Given the description of an element on the screen output the (x, y) to click on. 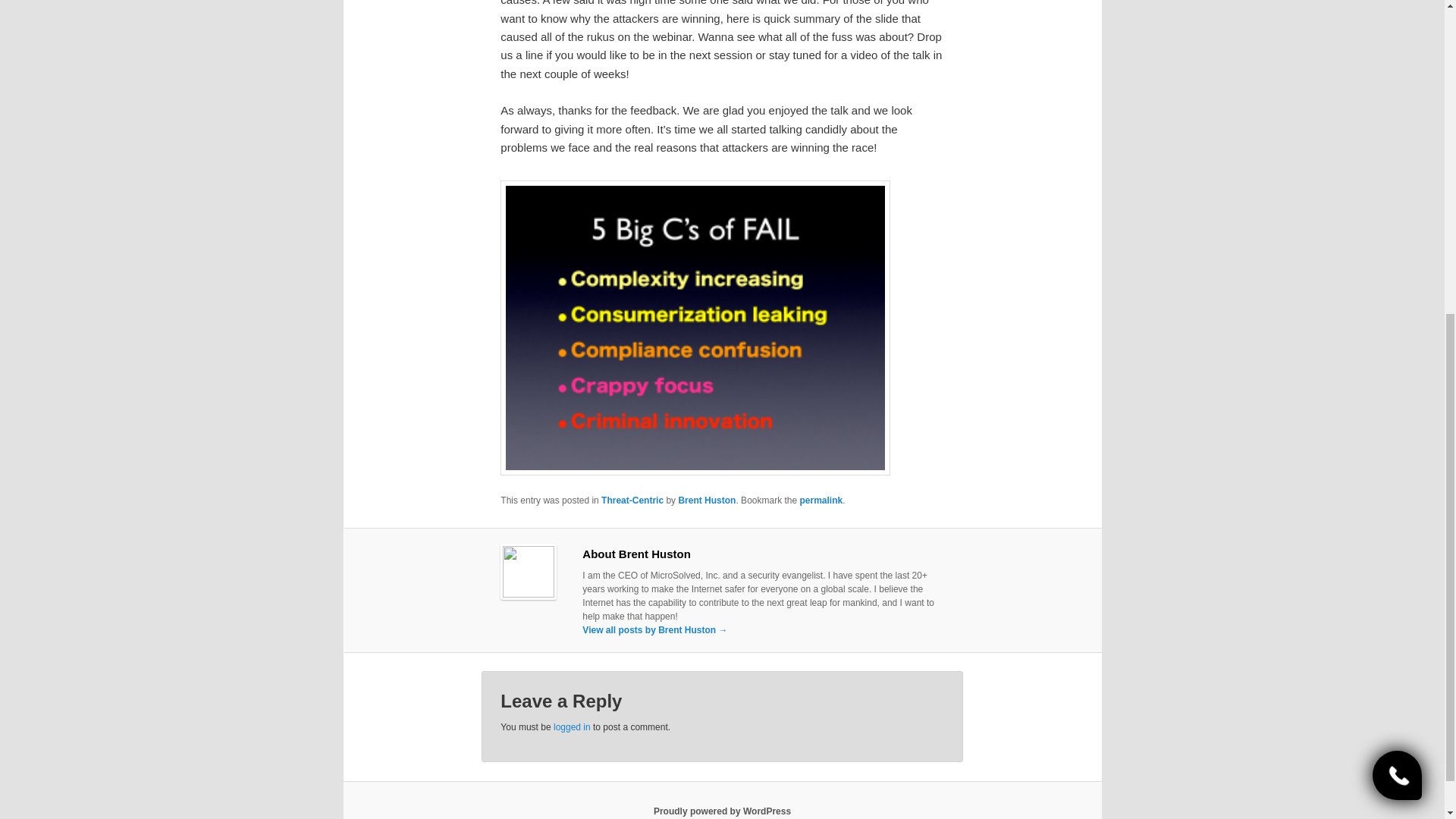
Brent Huston (706, 500)
The5CsOfFail.003 (694, 327)
Semantic Personal Publishing Platform (721, 810)
logged in (572, 726)
permalink (821, 500)
Proudly powered by WordPress (721, 810)
Threat-Centric (632, 500)
